Given the description of an element on the screen output the (x, y) to click on. 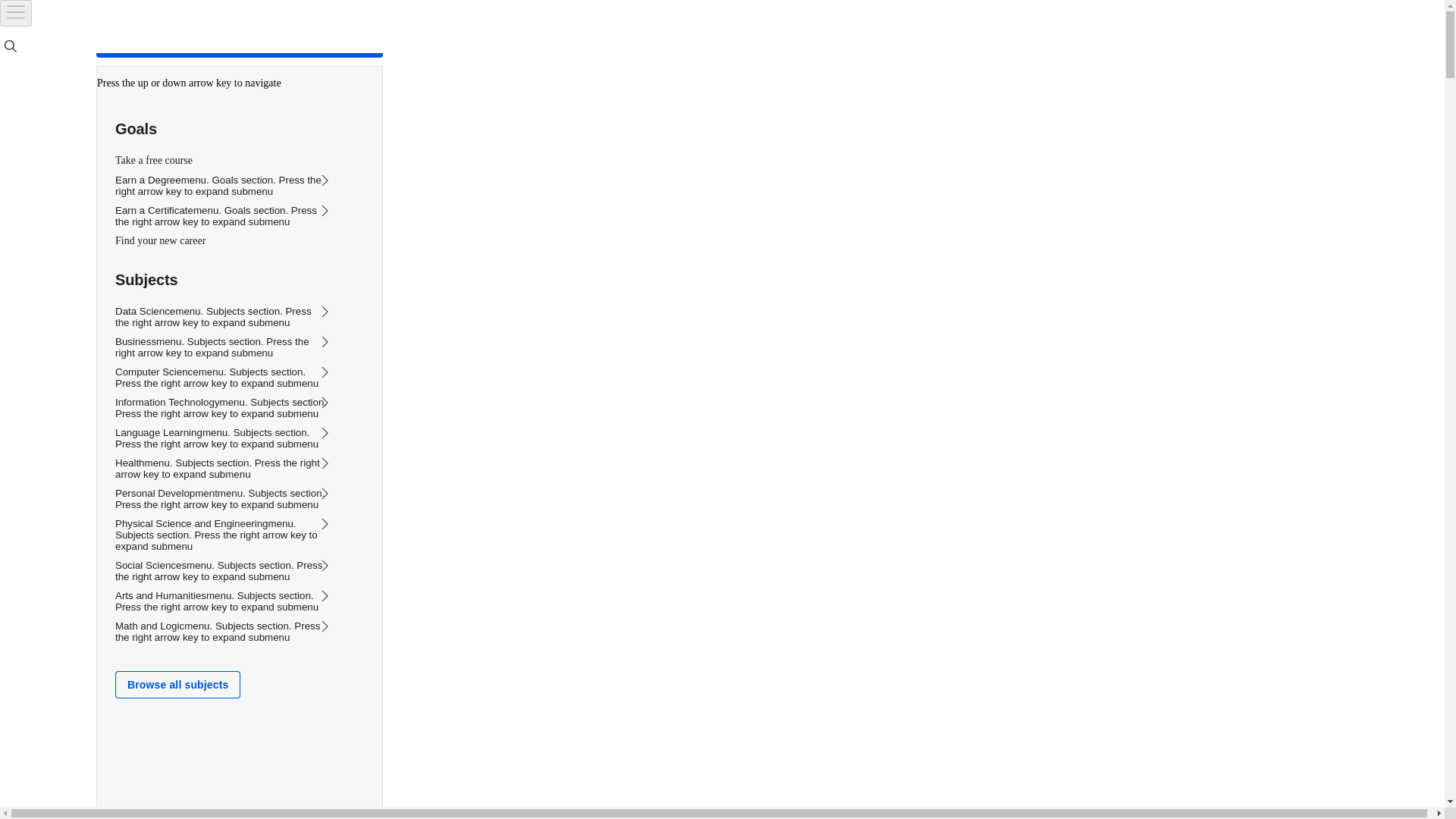
For Universities (282, 27)
For Businesses (175, 27)
View all Data Science degrees (495, 465)
Take a free course (603, 797)
Browse all subjects (603, 660)
